Given the description of an element on the screen output the (x, y) to click on. 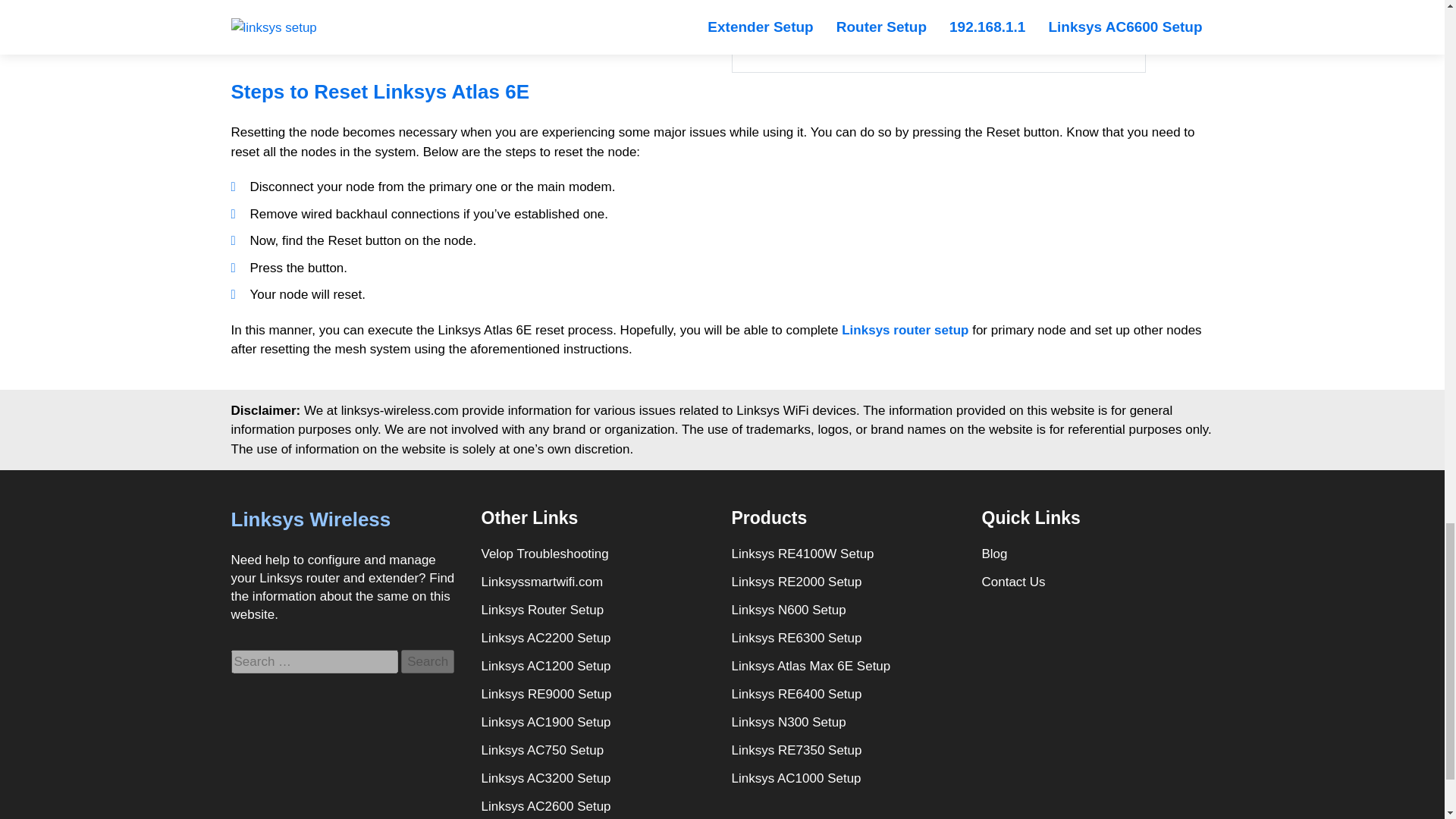
Blog (994, 553)
Linksys N600 Setup (787, 609)
Linksys RE9000 Setup (545, 694)
Linksys AC3200 Setup (545, 778)
Linksys AC750 Setup (542, 749)
Linksys AC1200 Setup (545, 666)
Linksys Atlas Max 6E Setup (809, 666)
Linksys AC2600 Setup (545, 806)
Linksys RE6300 Setup (795, 637)
Linksys RE7350 Setup (795, 749)
Search (427, 662)
Linksys AC1900 Setup (545, 721)
Linksys RE4100W Setup (801, 553)
Linksys AC2200 Setup (545, 637)
Contact Us (1013, 581)
